Given the description of an element on the screen output the (x, y) to click on. 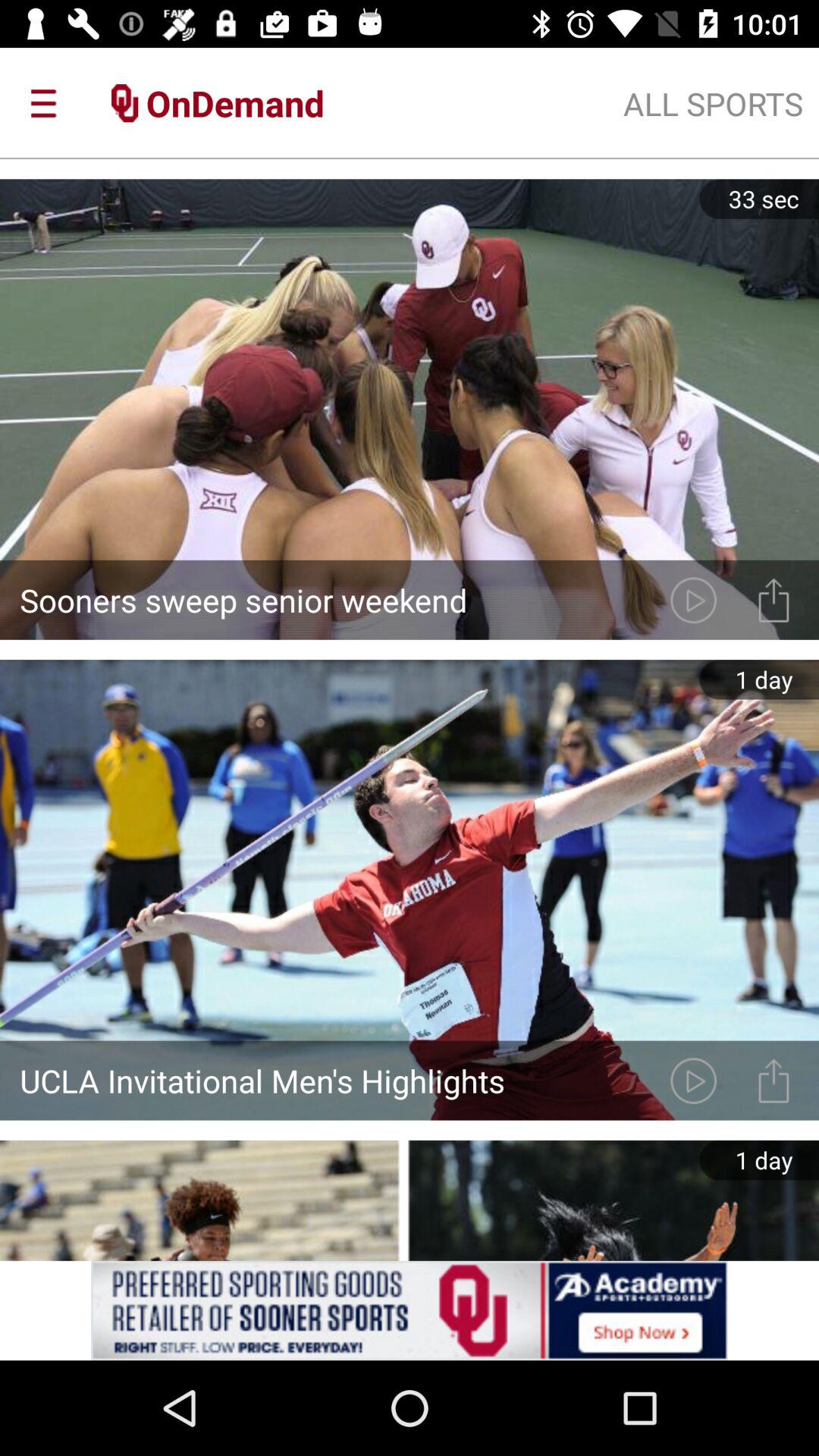
send the video (773, 1080)
